Given the description of an element on the screen output the (x, y) to click on. 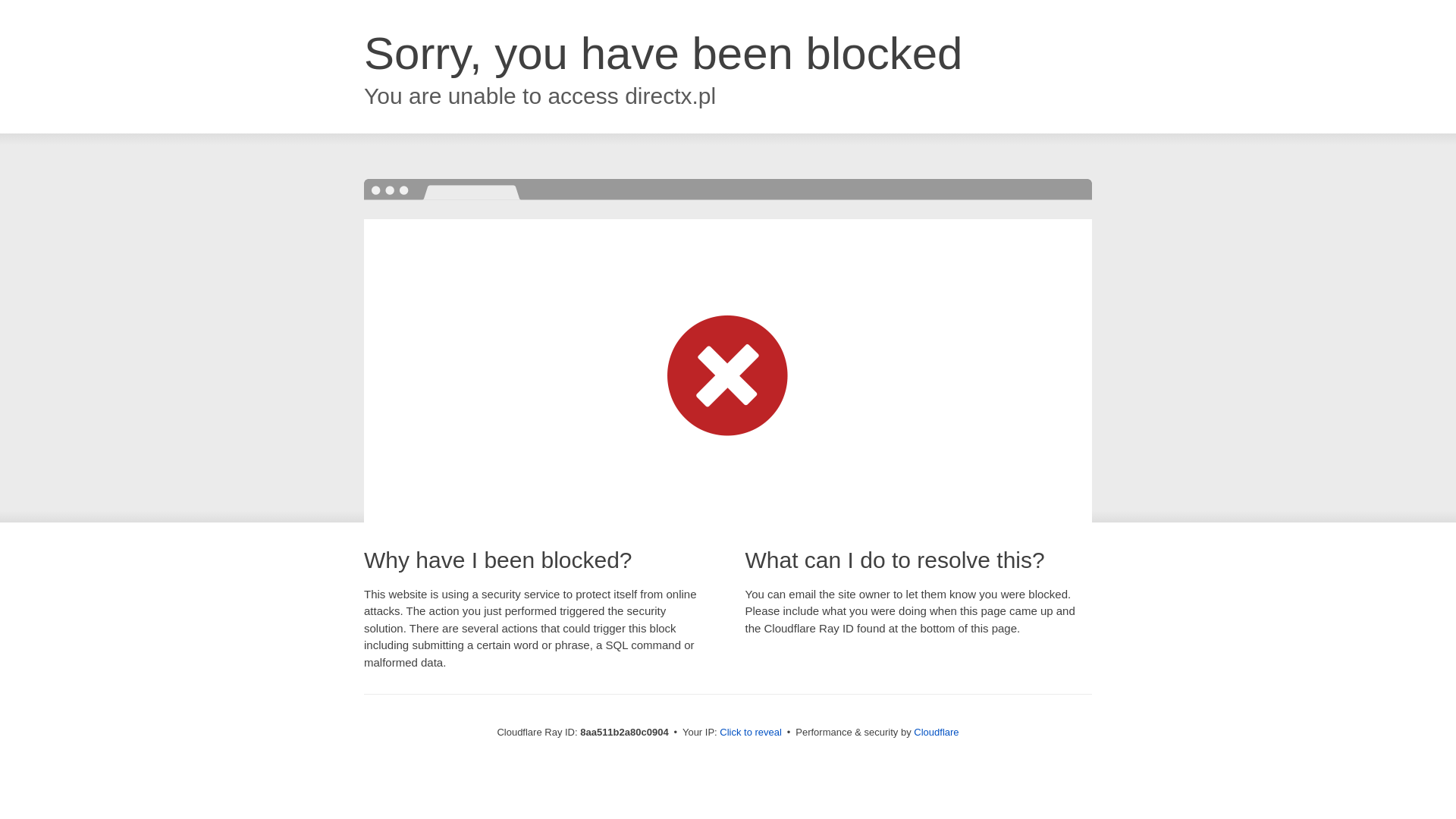
Cloudflare (936, 731)
Click to reveal (750, 732)
